Given the description of an element on the screen output the (x, y) to click on. 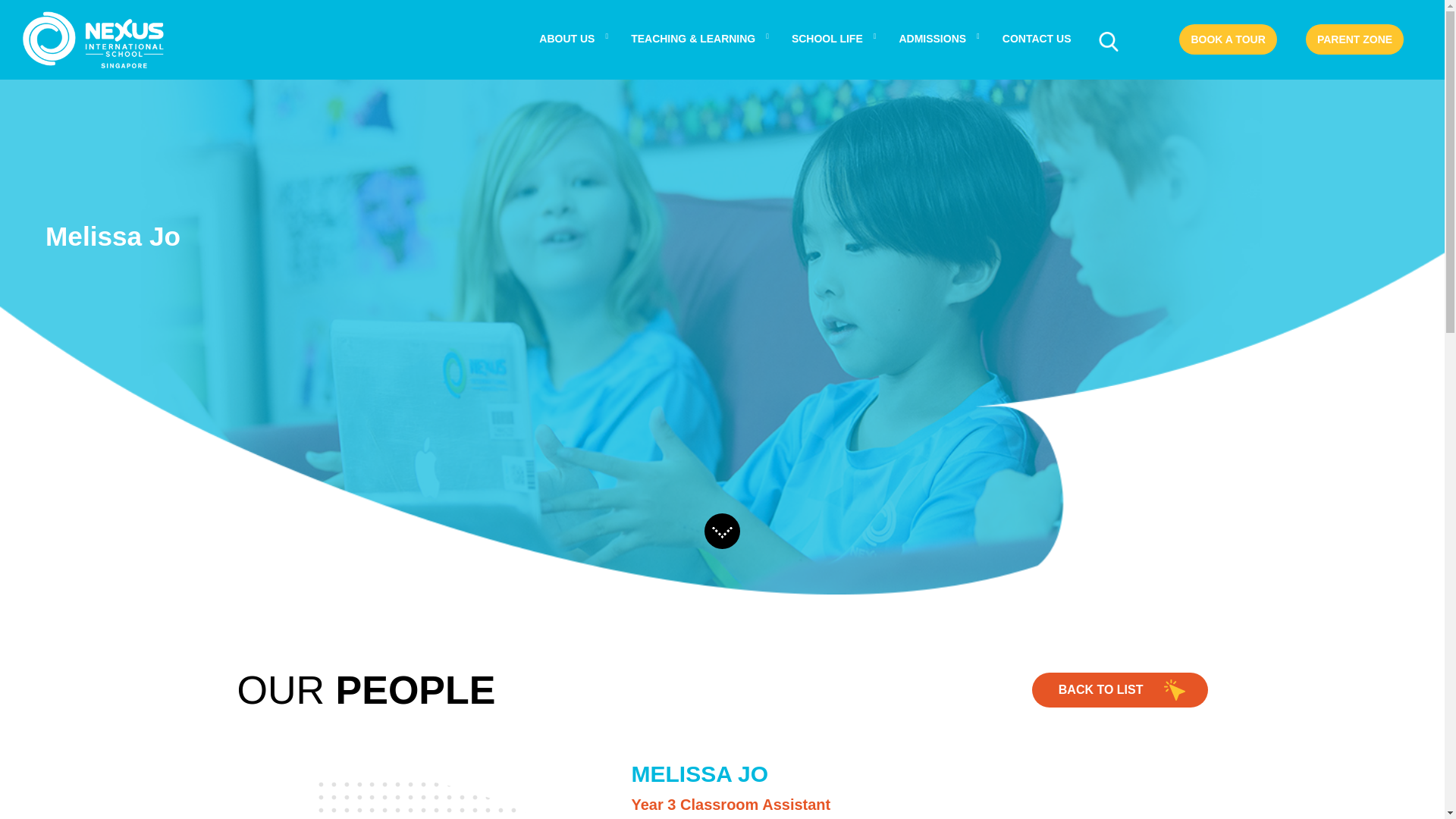
logo-10years (93, 39)
